Given the description of an element on the screen output the (x, y) to click on. 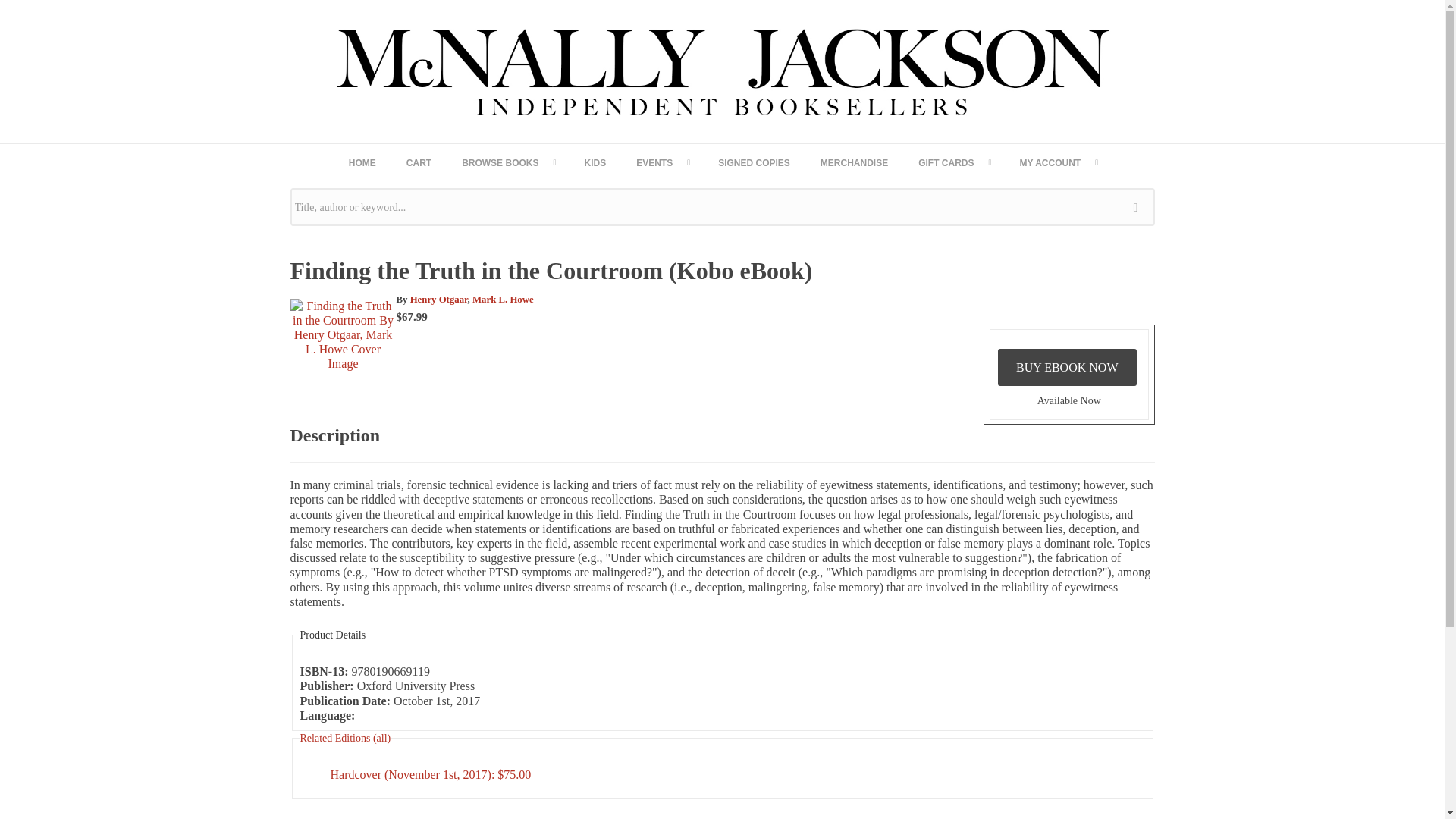
BROWSE BOOKS (507, 162)
HOME (362, 162)
SIGNED COPIES (754, 162)
Title, author or keyword... (721, 207)
Buy eBook Now (1067, 366)
MERCHANDISE (853, 162)
Buy eBook Now (1067, 366)
CART (418, 162)
MY ACCOUNT (1058, 162)
